Given the description of an element on the screen output the (x, y) to click on. 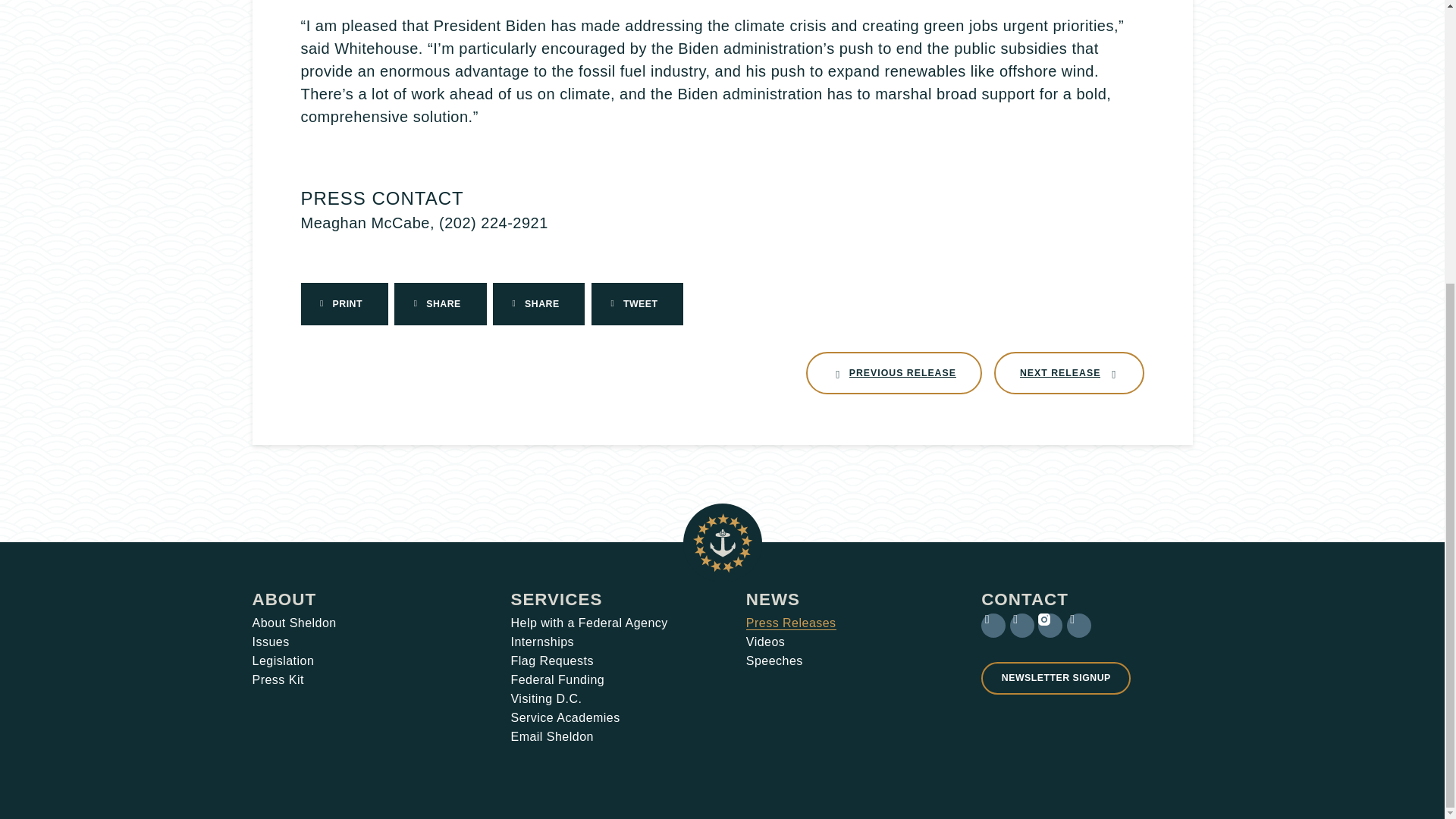
About Sheldon (293, 622)
Press Kit (276, 680)
ABOUT (1069, 372)
Issues (283, 599)
Legislation (269, 642)
